Given the description of an element on the screen output the (x, y) to click on. 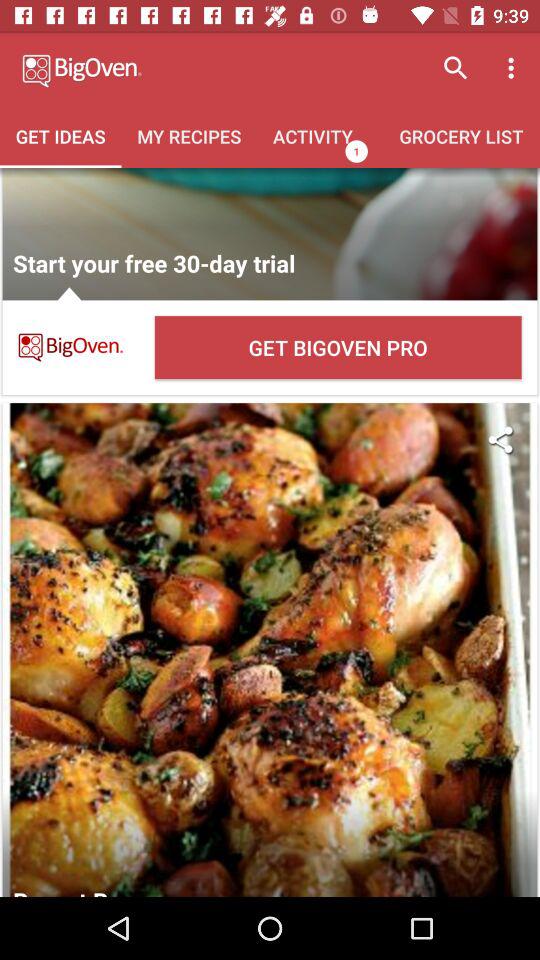
share content (500, 439)
